Given the description of an element on the screen output the (x, y) to click on. 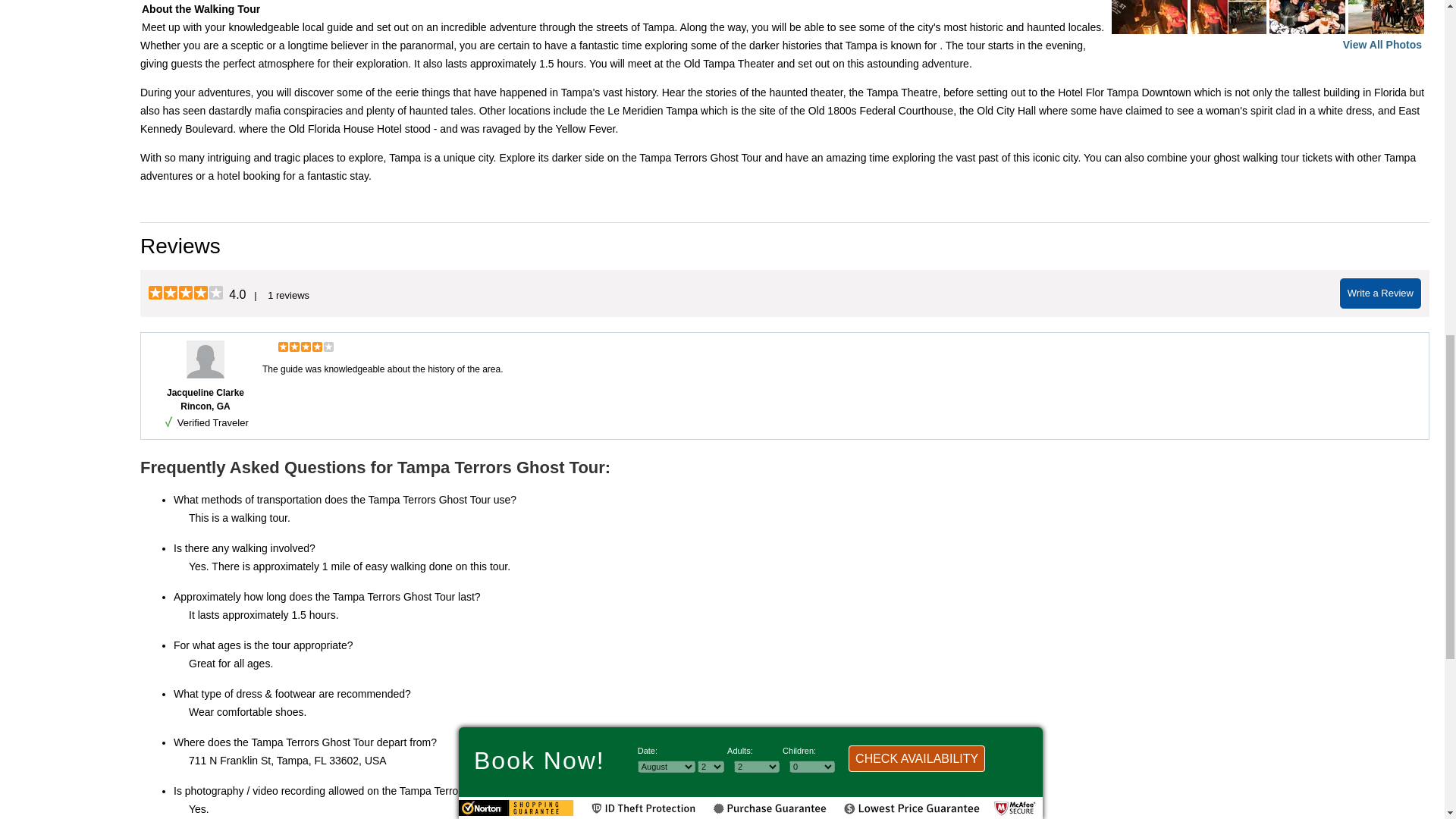
Write a Review (1380, 293)
View All Photos (1382, 44)
